Given the description of an element on the screen output the (x, y) to click on. 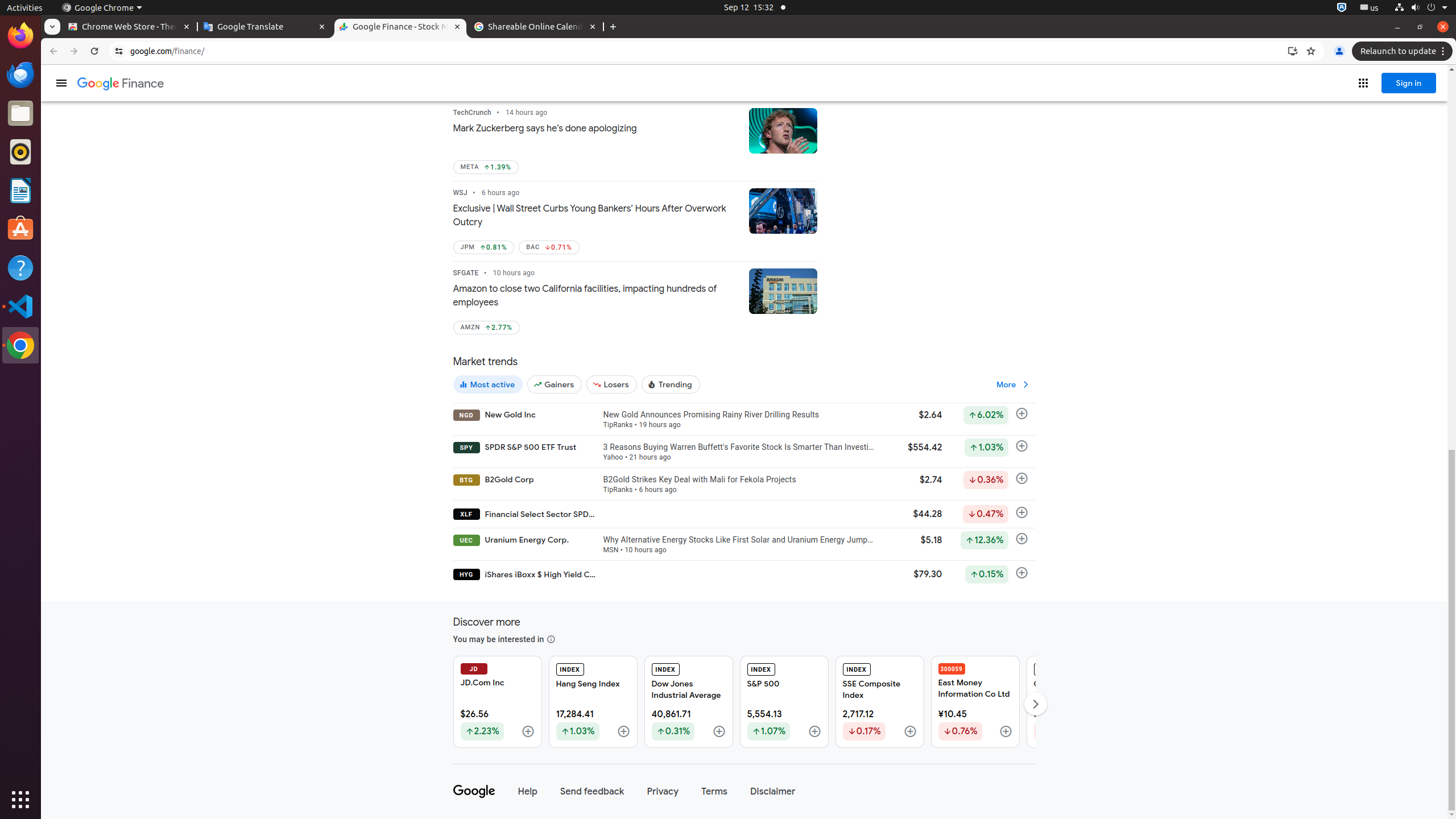
Help Element type: push-button (20, 267)
Forward Element type: push-button (73, 50)
3 Reasons Buying Warren Buffett's Favorite Stock Is Smarter Than Investing in an S&P 500 ETF Yahoo • 21 hours ago Element type: link (739, 451)
Visual Studio Code Element type: push-button (20, 306)
:1.72/StatusNotifierItem Element type: menu (1341, 7)
